Given the description of an element on the screen output the (x, y) to click on. 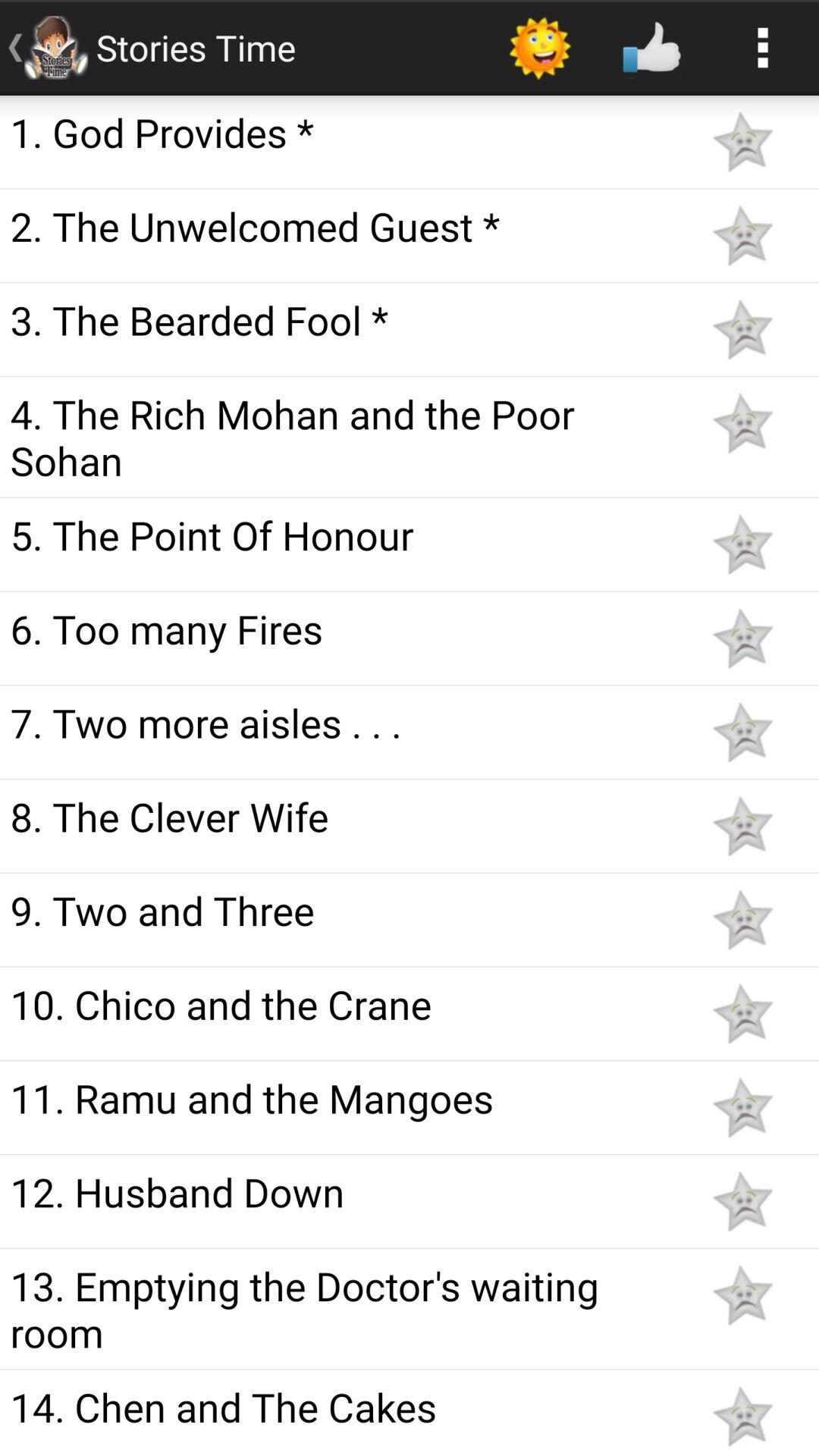
launch 10 chico and icon (343, 1003)
